Given the description of an element on the screen output the (x, y) to click on. 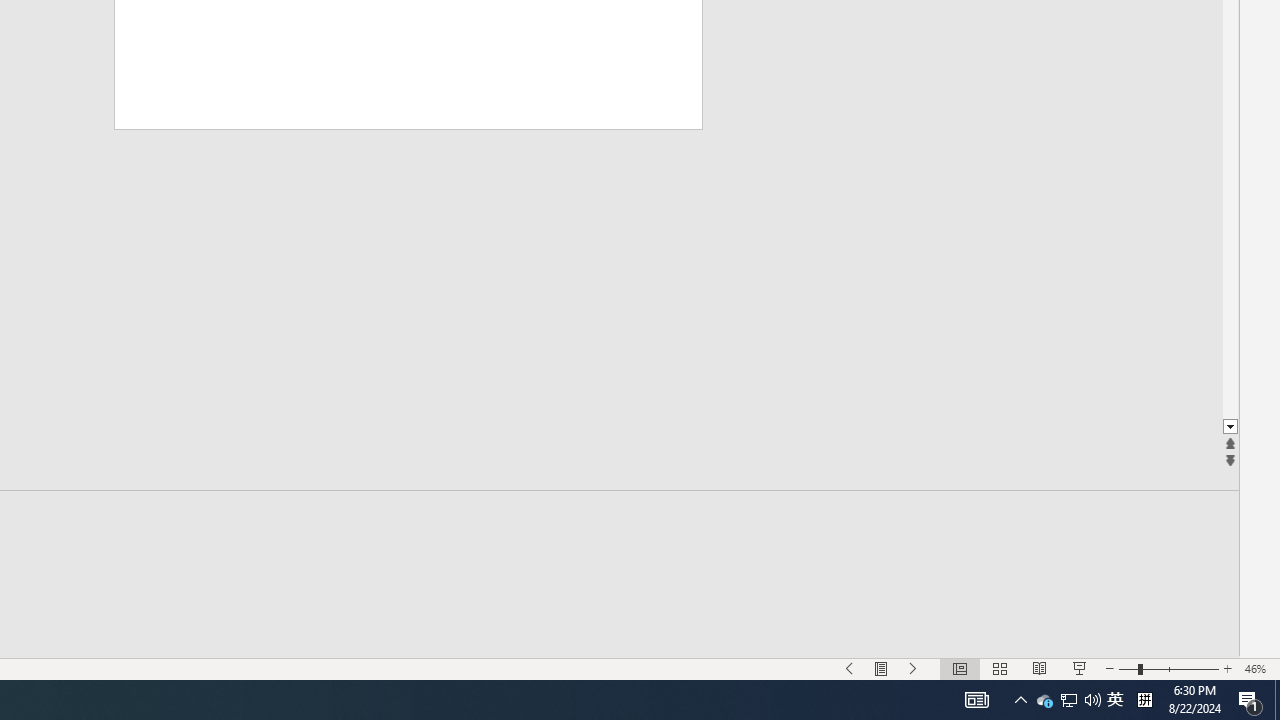
Q2790: 100% (1092, 699)
User Promoted Notification Area (1115, 699)
Slide Show Next On (1068, 699)
Zoom 46% (914, 668)
Line down (1258, 668)
Notification Chevron (1230, 427)
Tray Input Indicator - Chinese (Simplified, China) (1020, 699)
